Given the description of an element on the screen output the (x, y) to click on. 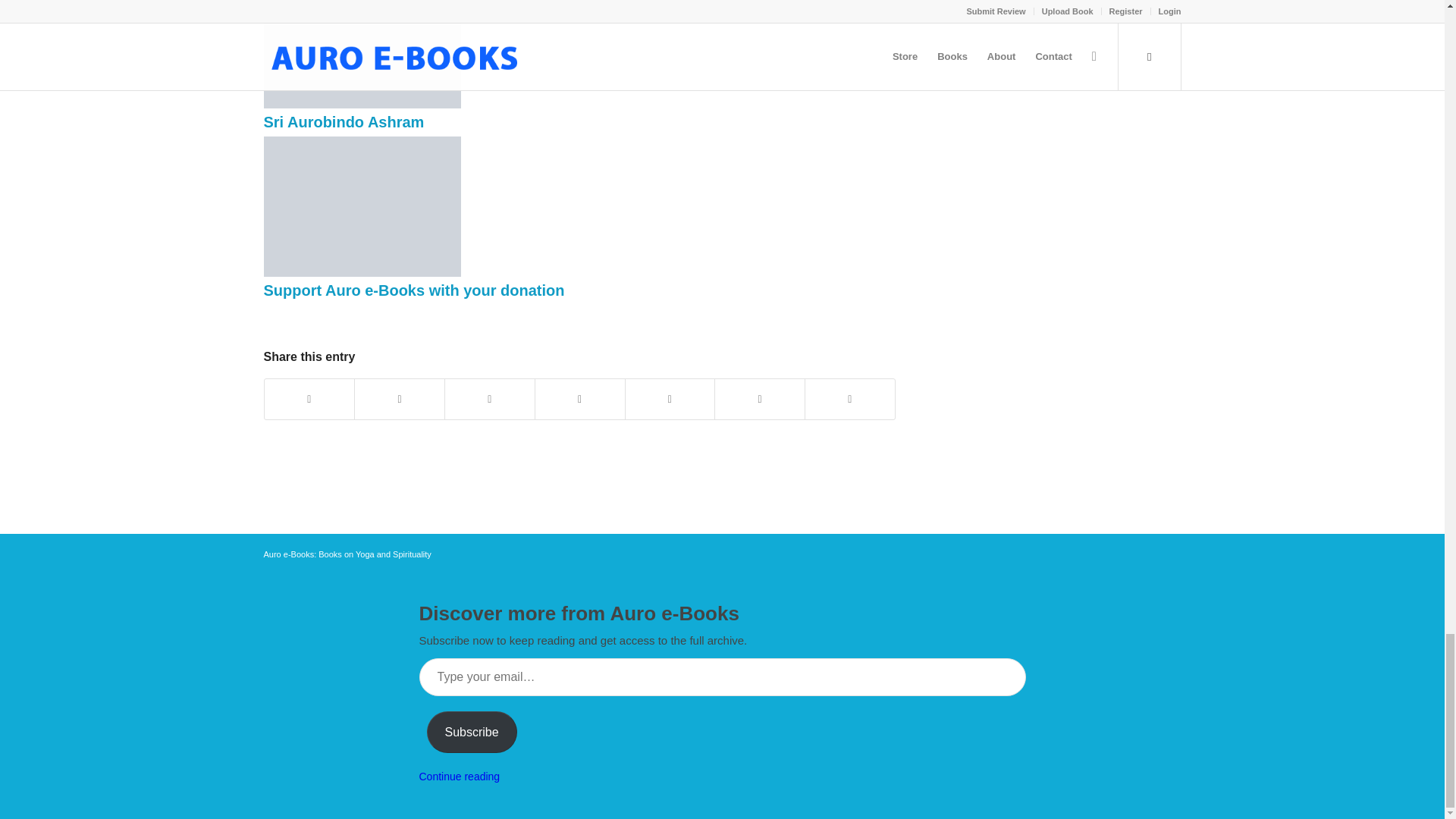
Support Auro e-Books with your donation (413, 289)
Support Auro e-Books with your donation (362, 272)
Support Auro e-Books with your donation (413, 289)
Sri Aurobindo Ashram (344, 121)
Sri Aurobindo Ashram (344, 121)
Sri Aurobindo Ashram (362, 104)
